Given the description of an element on the screen output the (x, y) to click on. 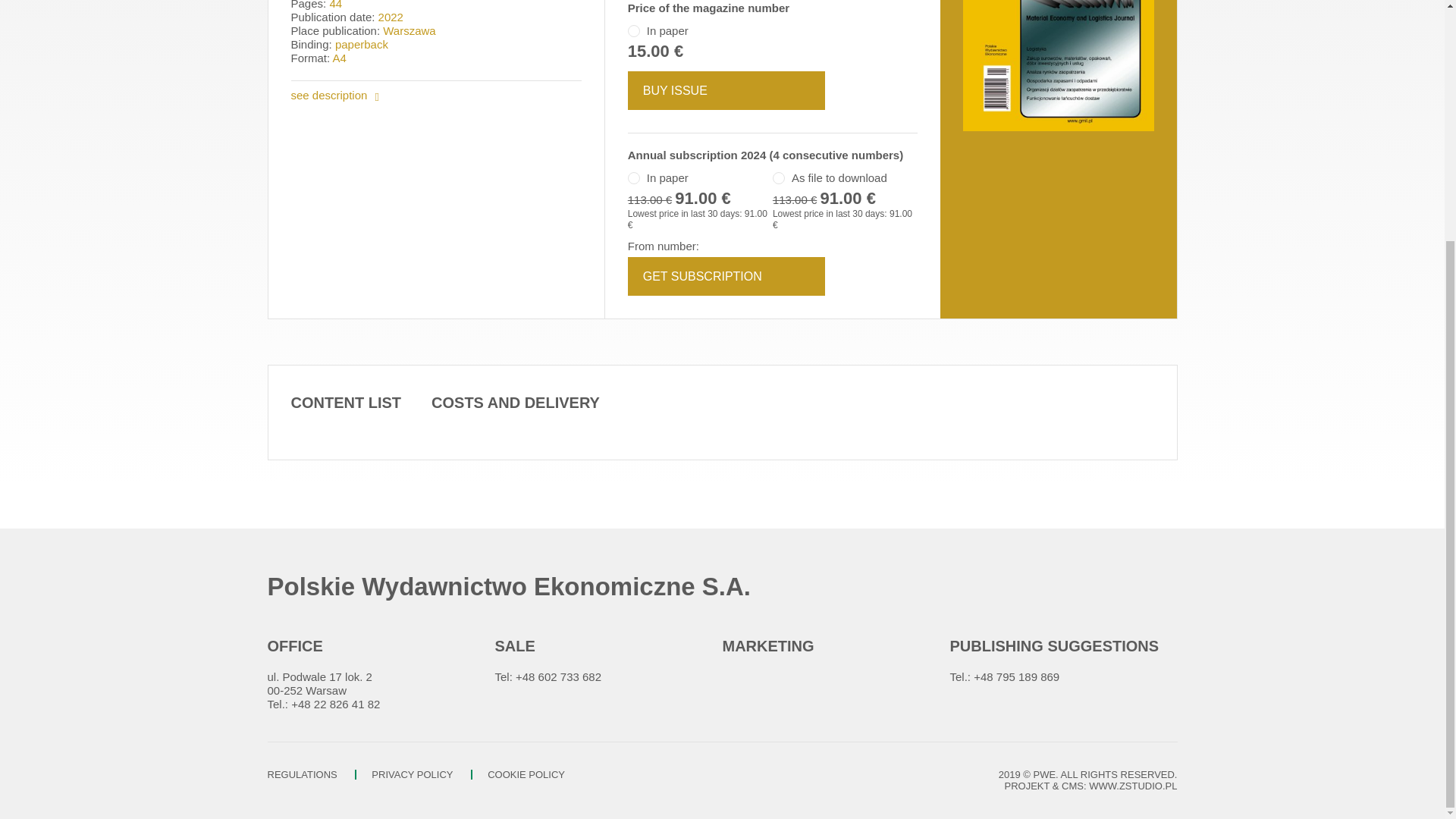
CONTENT LIST (346, 403)
GET SUBSCRIPTION (726, 276)
see description (334, 95)
BUY ISSUE (726, 90)
Projektowanie stron Warszawa (1132, 785)
